Given the description of an element on the screen output the (x, y) to click on. 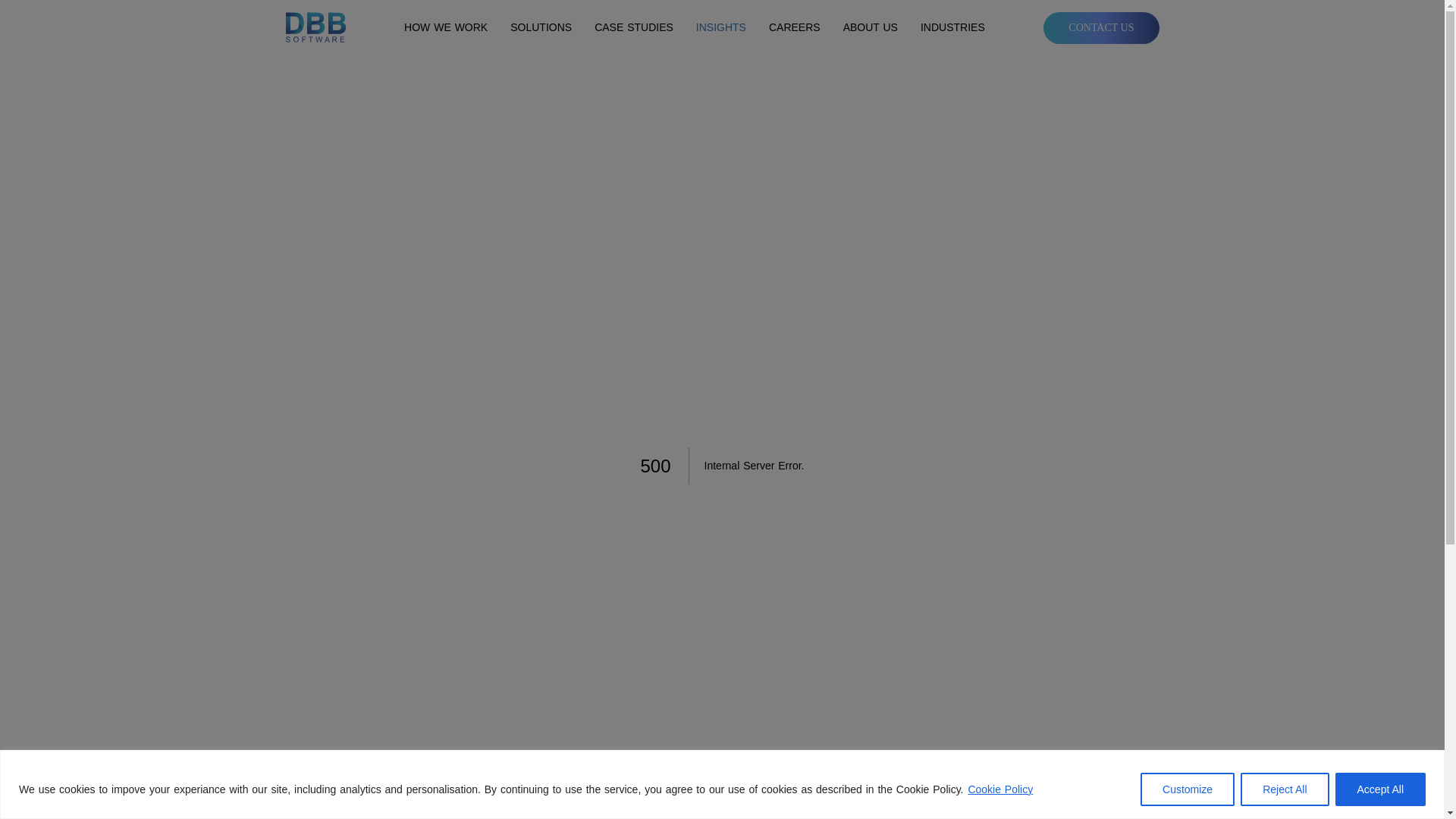
CASE STUDIES (633, 28)
CONTACT US (1100, 28)
CONTACT US (1100, 26)
Accept All (1380, 788)
INSIGHTS (720, 28)
CAREERS (794, 28)
Reject All (1283, 788)
Cookie Policy (999, 789)
SOLUTIONS (541, 28)
Customize (1187, 788)
